Given the description of an element on the screen output the (x, y) to click on. 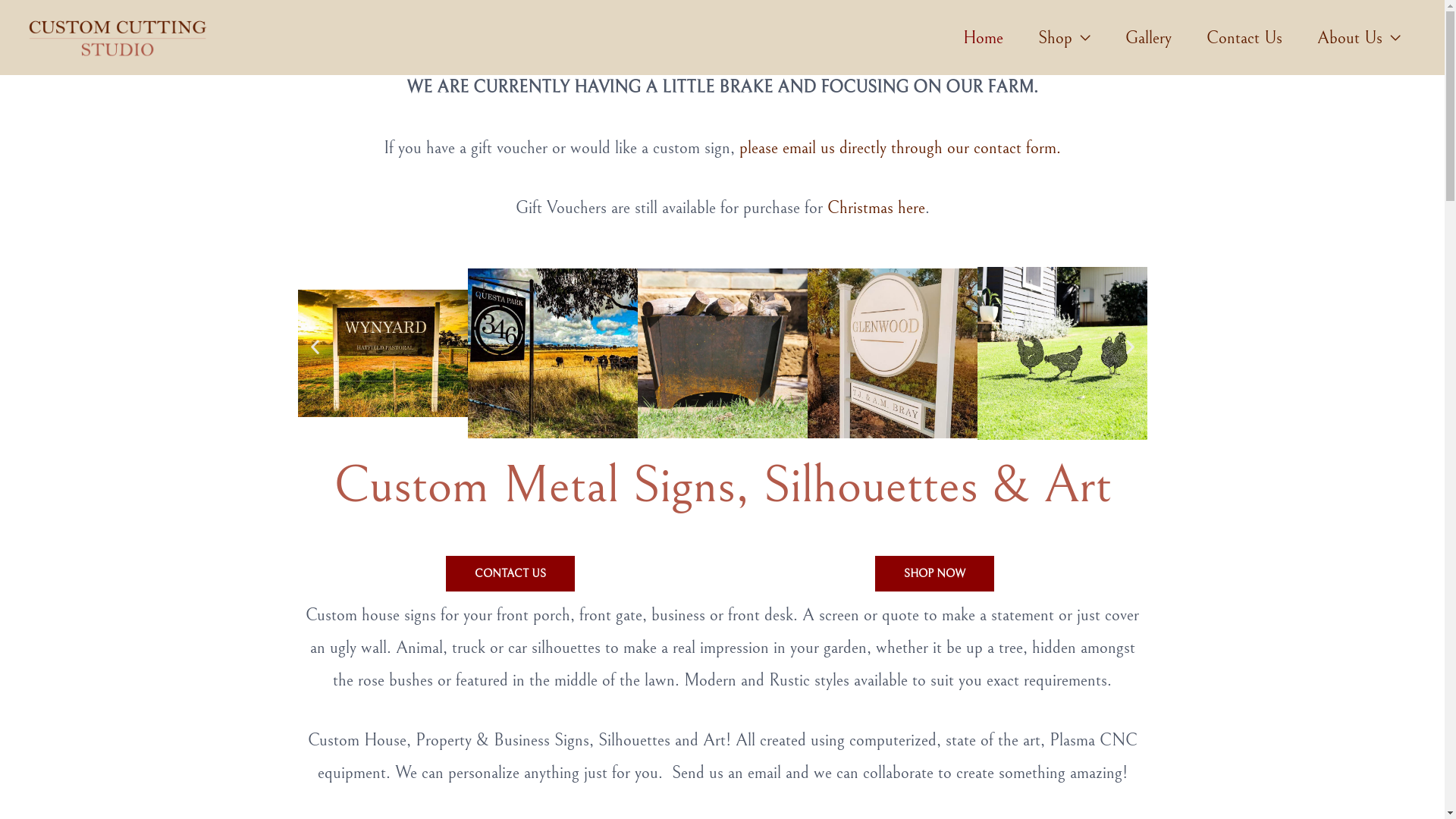
Contact Us Element type: text (1244, 37)
Christmas here Element type: text (875, 207)
CONTACT US Element type: text (509, 573)
Gallery Element type: text (1148, 37)
please email us directly through our contact form. Element type: text (899, 147)
SHOP NOW Element type: text (934, 573)
About Us Element type: text (1358, 37)
Home Element type: text (982, 37)
Shop Element type: text (1063, 37)
